Given the description of an element on the screen output the (x, y) to click on. 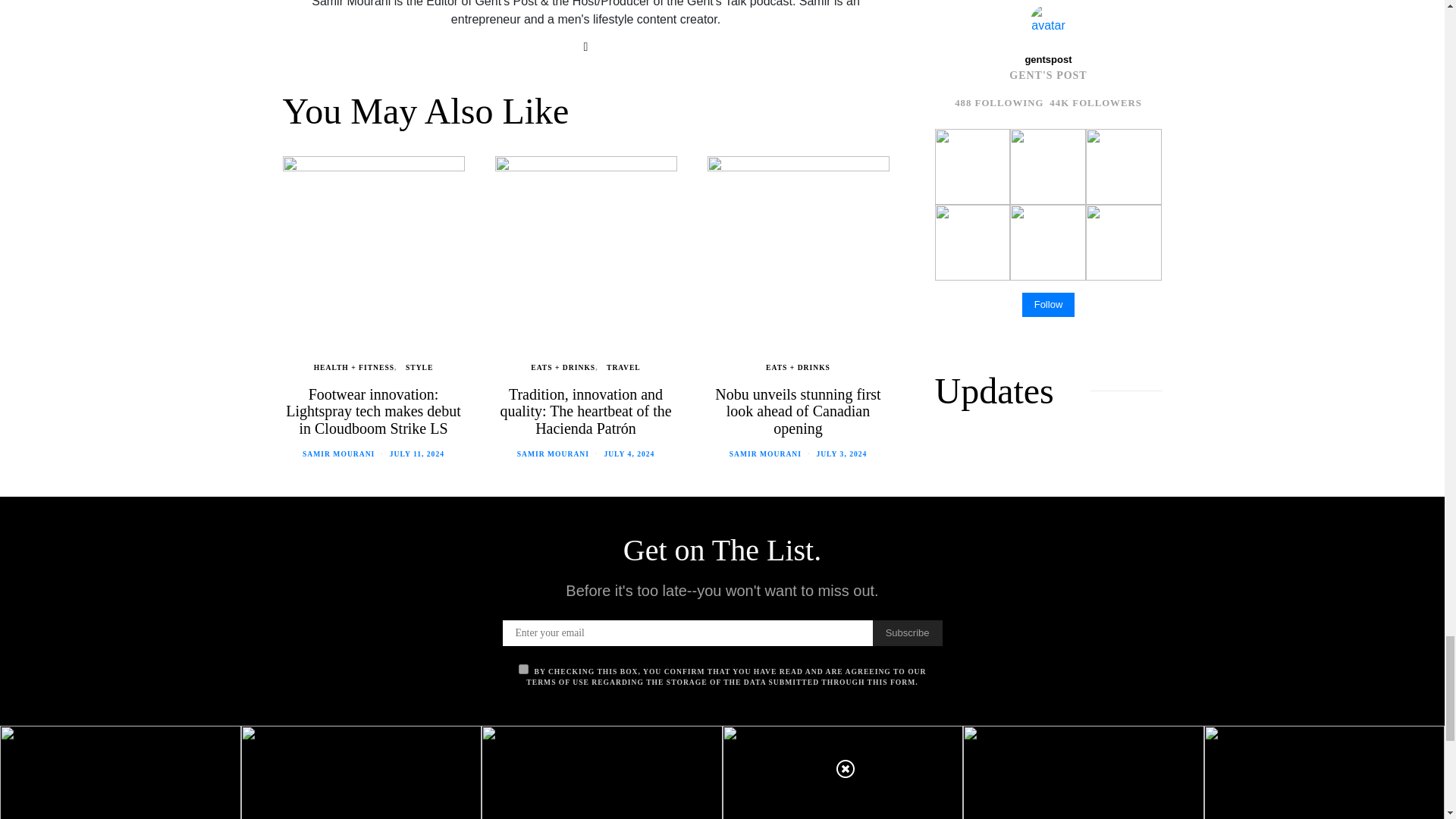
View all posts by Samir Mourani (552, 453)
View all posts by Samir Mourani (765, 453)
on (523, 669)
View all posts by Samir Mourani (338, 453)
